Given the description of an element on the screen output the (x, y) to click on. 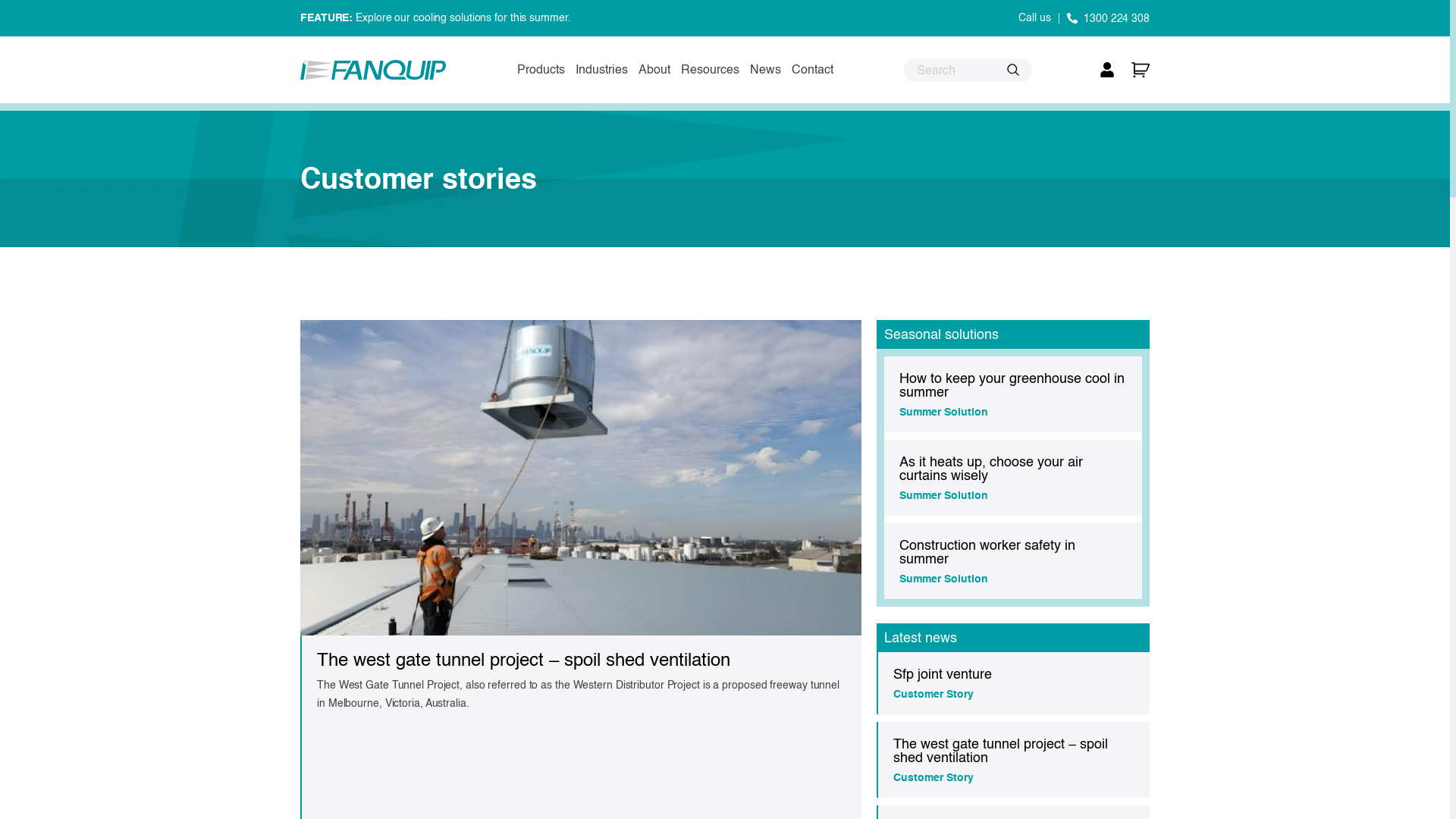
Go to your shopping cart Element type: hover (1140, 69)
Search News Element type: hover (967, 69)
Customer Story Element type: text (933, 693)
About Element type: text (654, 69)
Customer Story Element type: text (933, 776)
construction worker safety in summer  Element type: text (987, 551)
as it heats up, choose your air curtains wisely Element type: text (990, 468)
News Element type: text (765, 69)
Contact Element type: text (812, 69)
Search News Element type: hover (1013, 69)
Go to your account Element type: hover (1106, 69)
how to keep your greenhouse cool in summer Element type: text (1011, 385)
sfp joint venture   Element type: text (946, 674)
Summer Solution Element type: text (943, 494)
Summer Solution Element type: text (943, 411)
Summer Solution Element type: text (943, 578)
Industries Element type: text (601, 69)
Products Element type: text (540, 69)
FEATURE: Explore our cooling solutions for this summer. Element type: text (435, 16)
Resources Element type: text (710, 69)
Call us Element type: text (1034, 16)
1300 224 308 Element type: text (1107, 17)
